Given the description of an element on the screen output the (x, y) to click on. 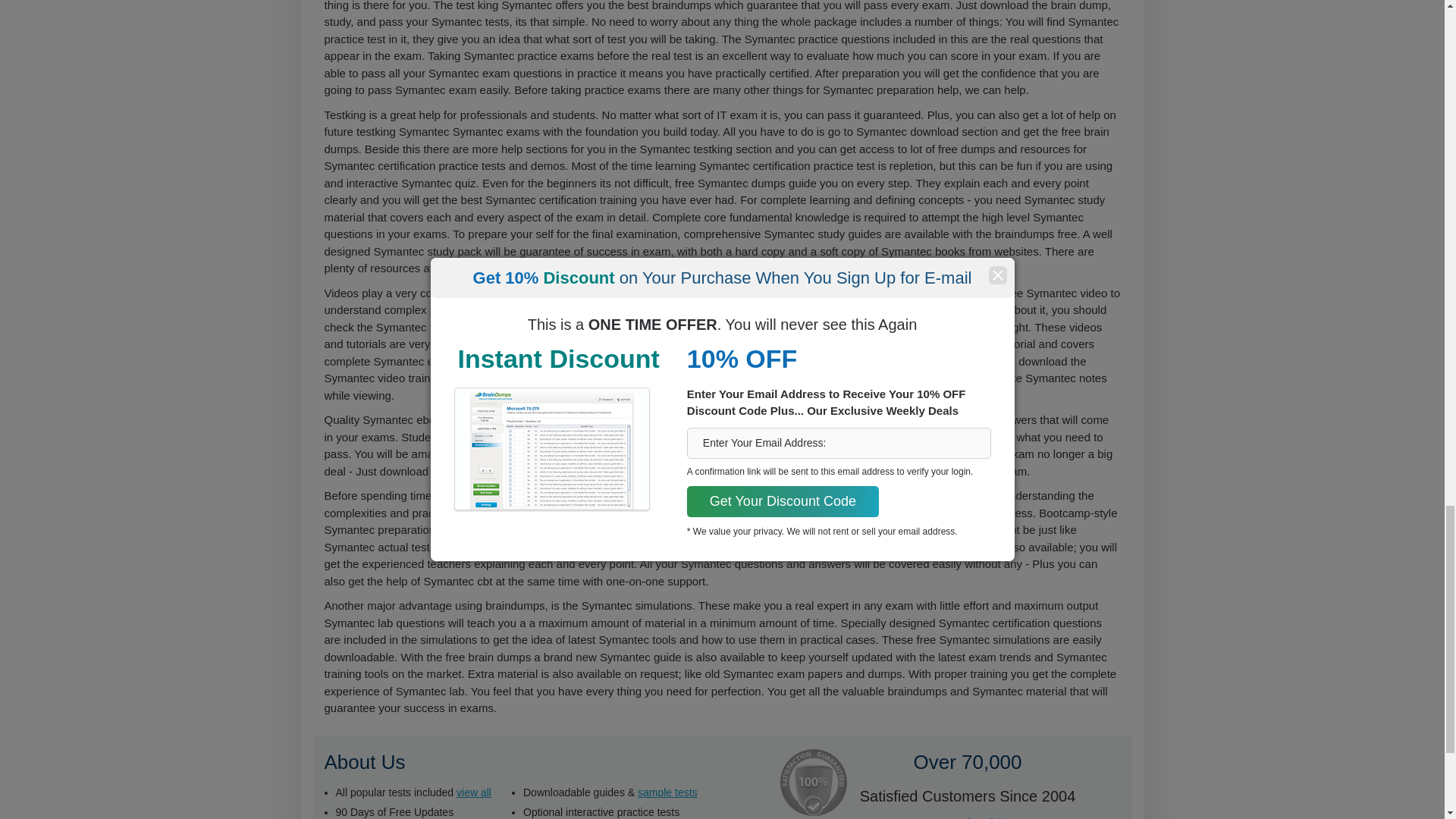
sample tests (667, 791)
See testimonials (967, 817)
view all (474, 791)
